Given the description of an element on the screen output the (x, y) to click on. 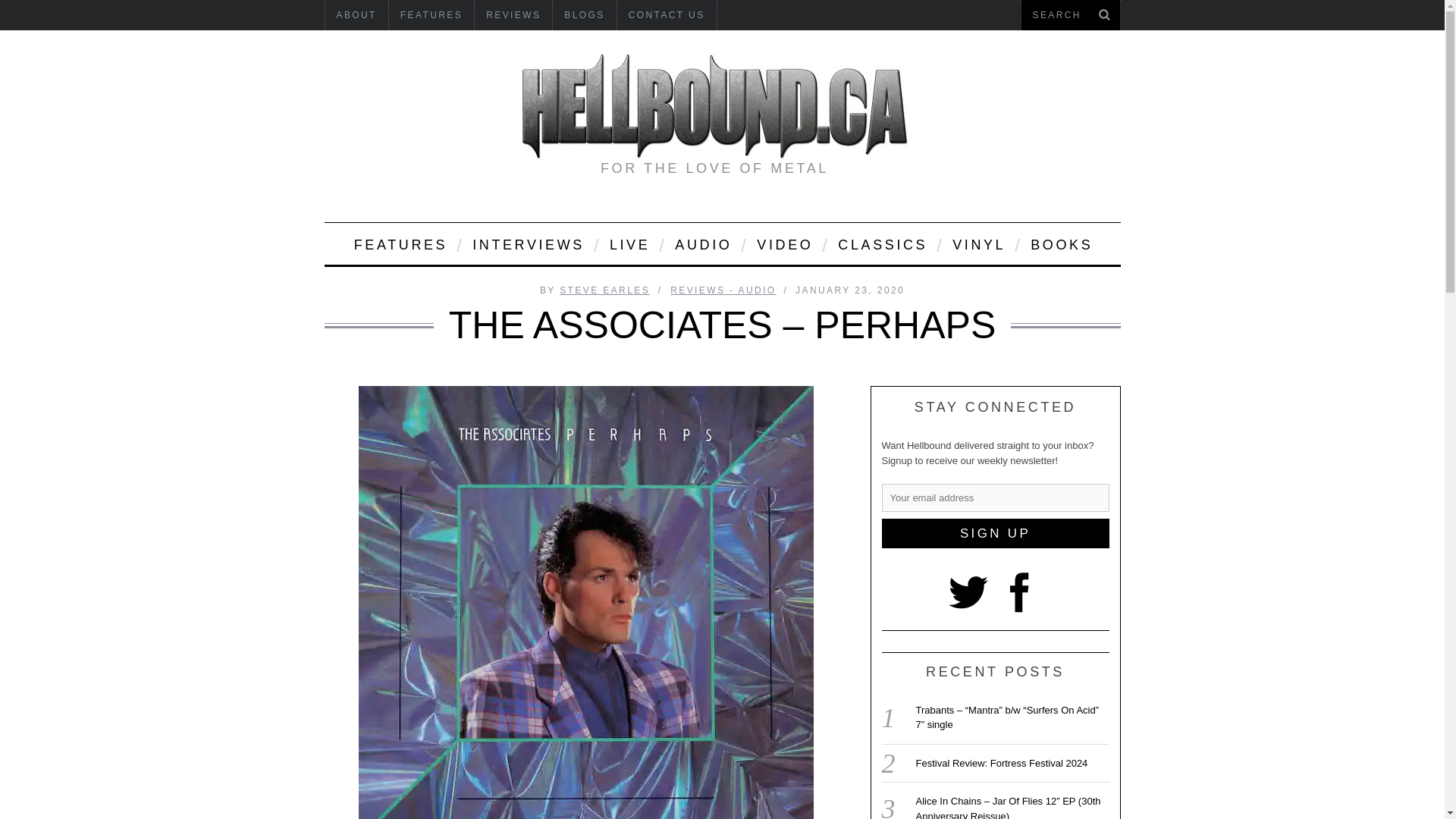
Posts by Steve Earles (604, 290)
FEATURES (399, 243)
REVIEWS (512, 14)
Search (1070, 15)
FEATURES (431, 14)
Sign up (994, 532)
ABOUT (355, 14)
LIVE (628, 243)
Hellbound.ca - FOR THE LOVE OF METAL (714, 106)
CONTACT US (666, 14)
BLOGS (584, 14)
INTERVIEWS (527, 243)
